Given the description of an element on the screen output the (x, y) to click on. 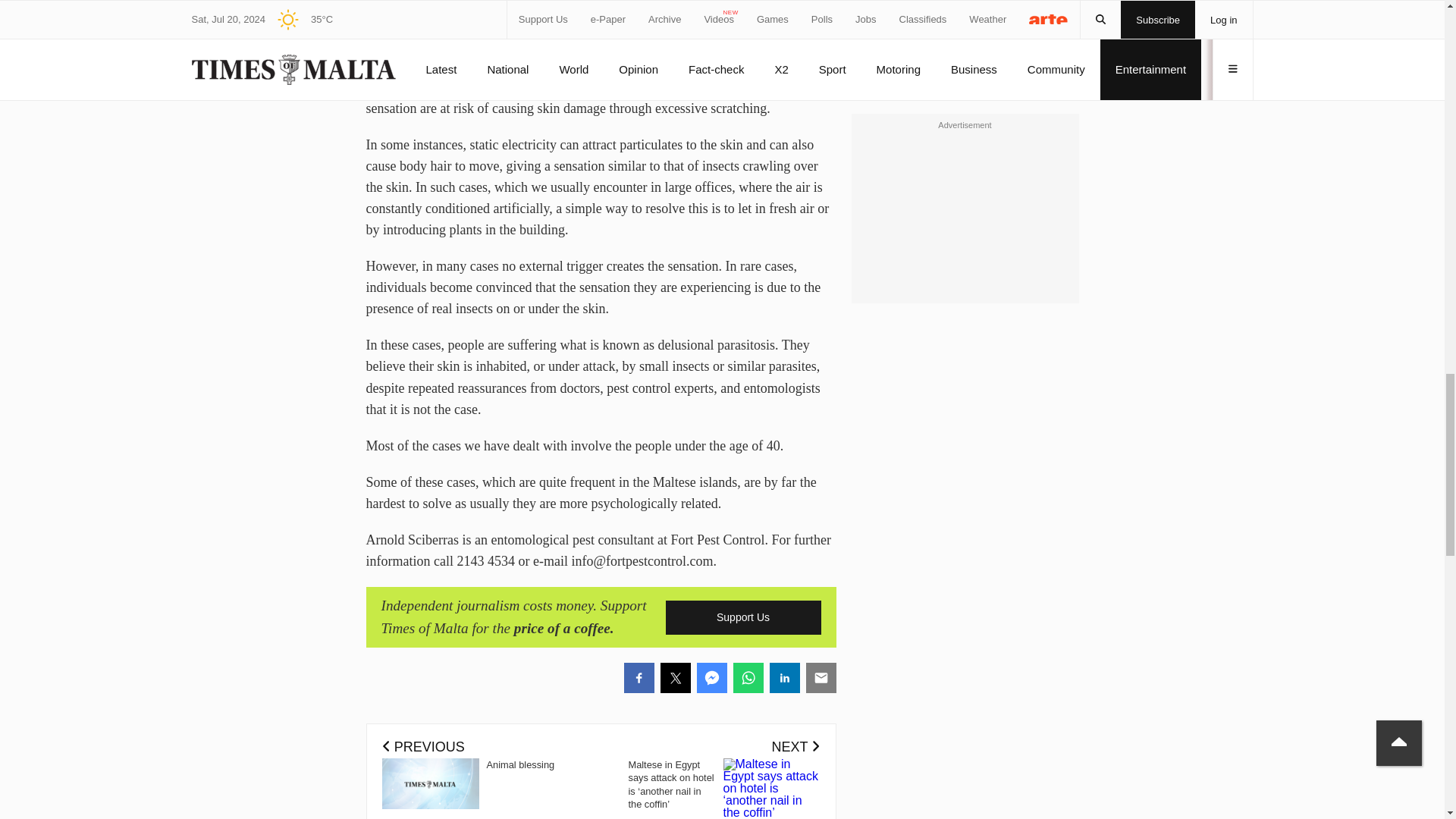
Support Us (743, 617)
Employment (900, 5)
